Given the description of an element on the screen output the (x, y) to click on. 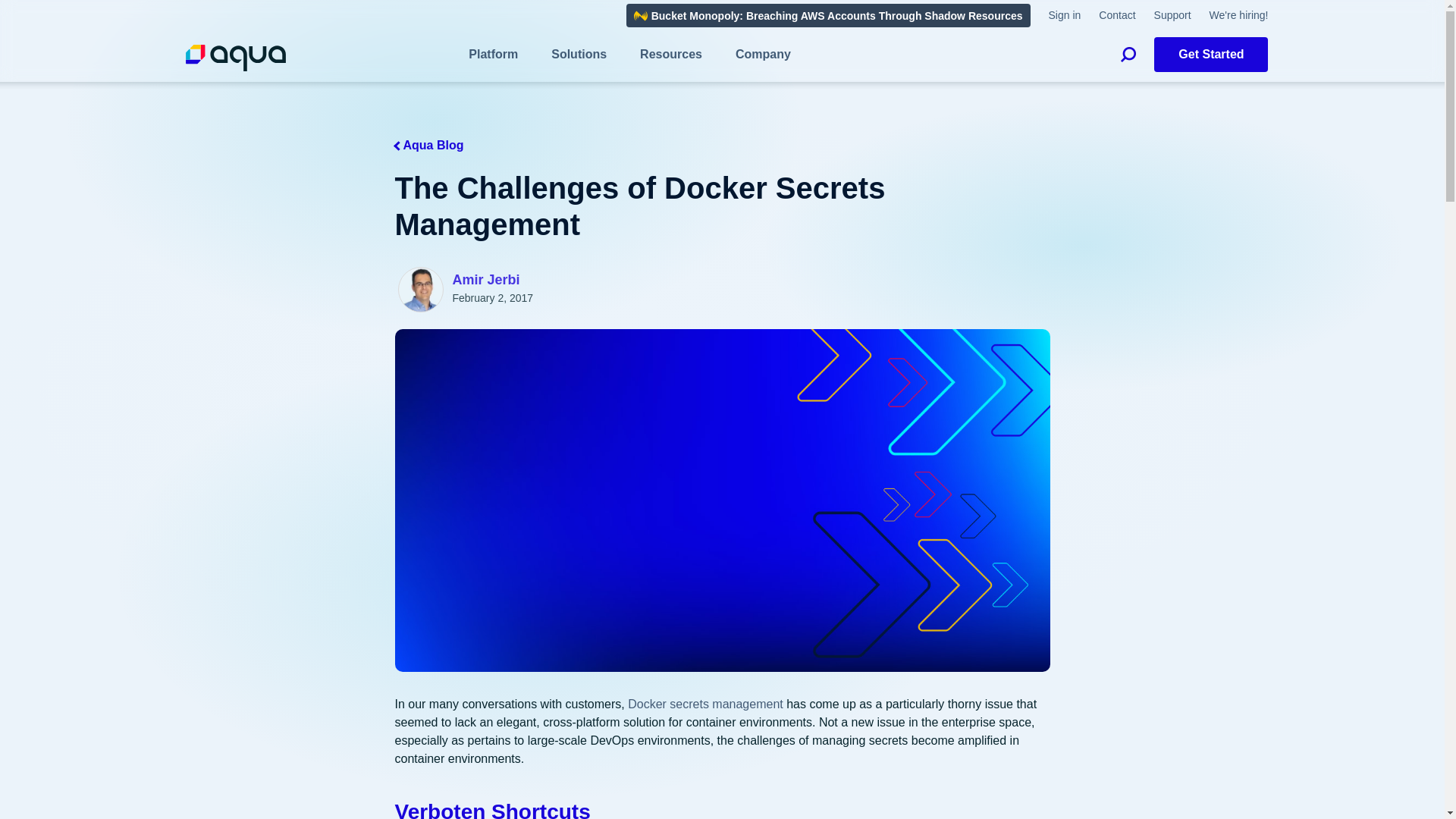
Resources (670, 54)
Support (1172, 15)
Platform (493, 54)
We're hiring! (1238, 15)
Sign in (1064, 15)
Aqua Security (234, 59)
Contact (1117, 15)
Company (762, 54)
Solutions (578, 54)
